Given the description of an element on the screen output the (x, y) to click on. 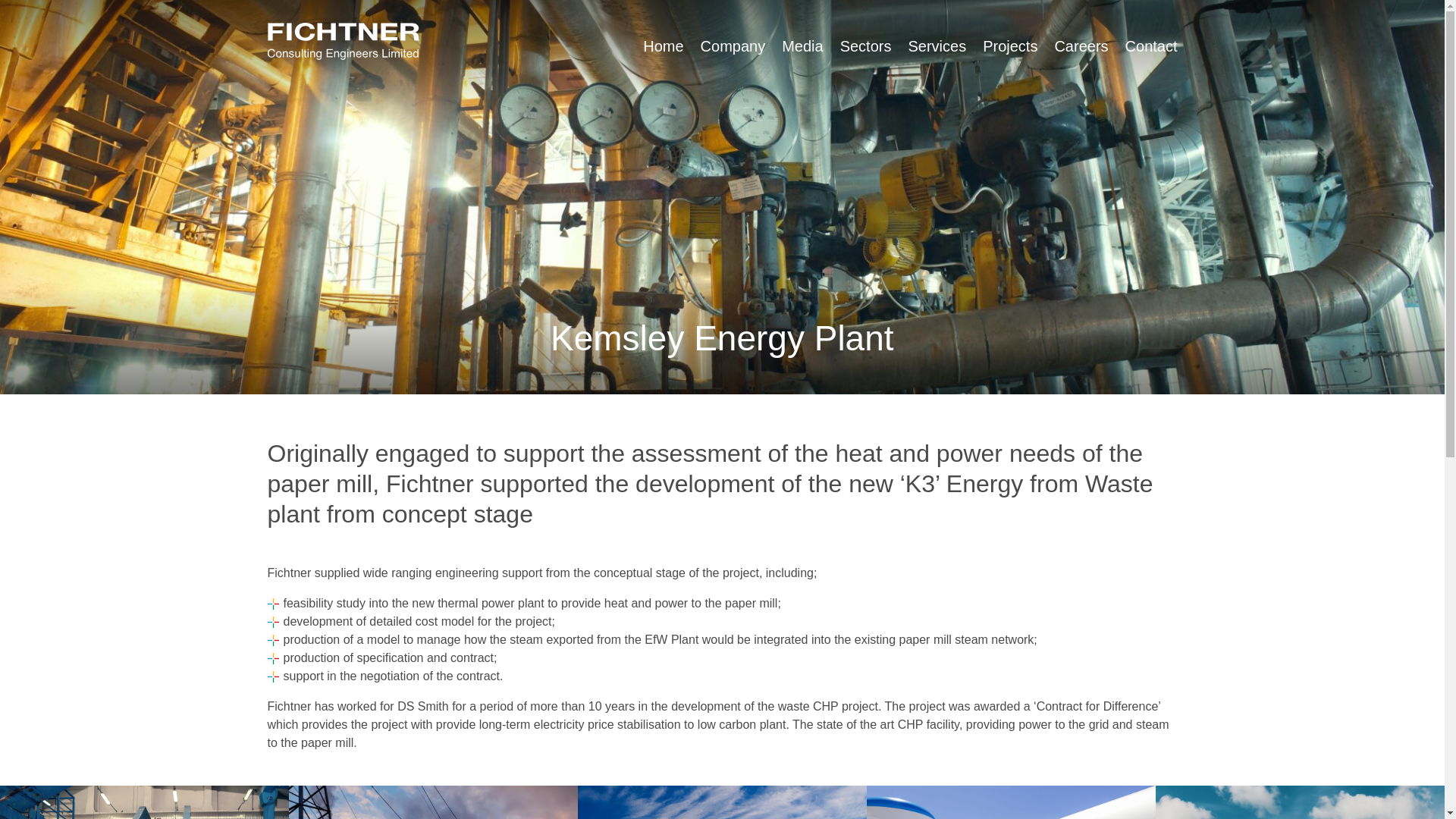
Company (732, 46)
Projects (1009, 46)
Contact (1151, 46)
Sectors (865, 46)
Media (801, 46)
Home (662, 46)
Careers (1081, 46)
Services (936, 46)
